Given the description of an element on the screen output the (x, y) to click on. 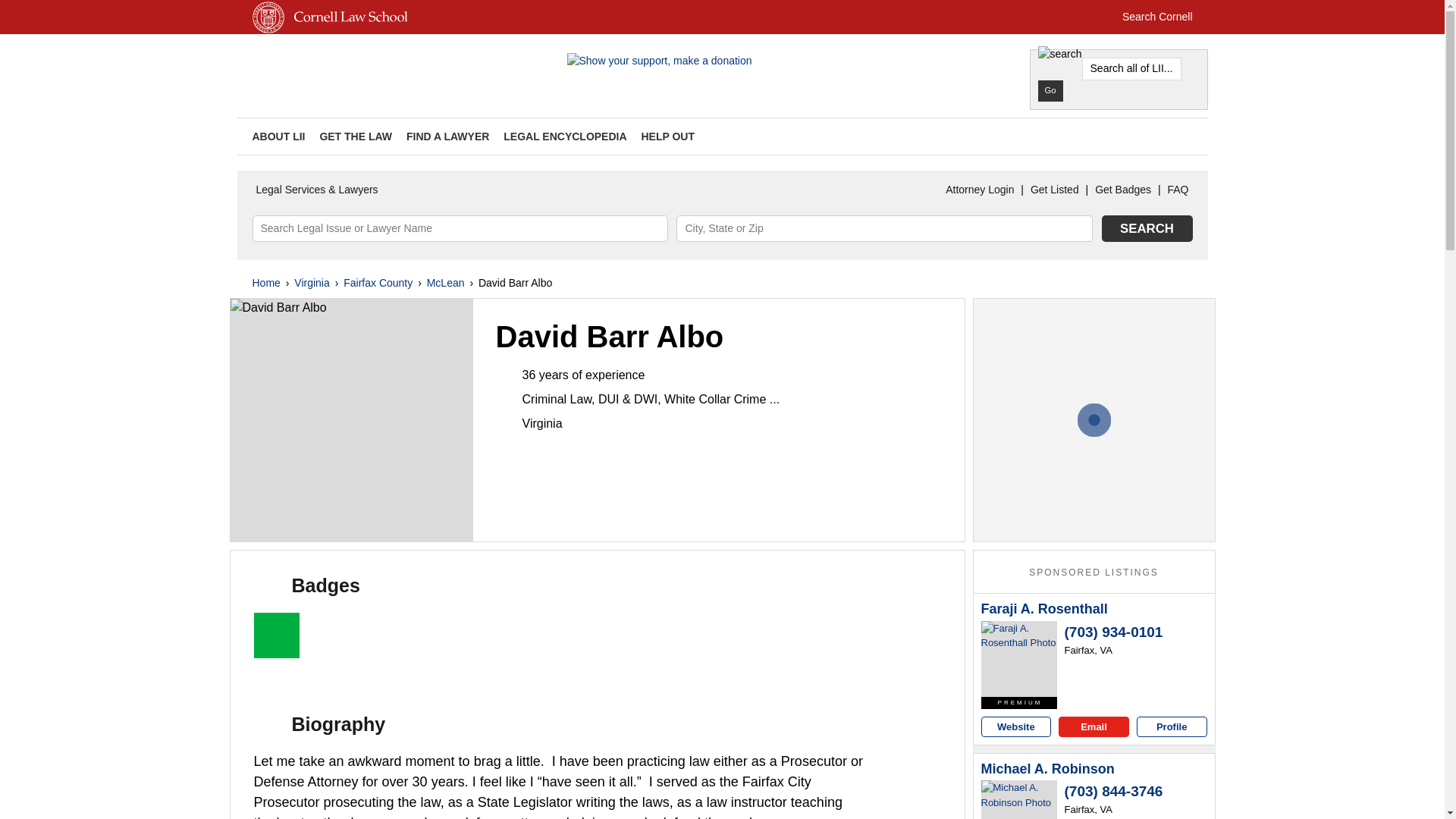
Get Badges (1122, 189)
Cornell - LII Attorney Directory (402, 67)
facebook like (1173, 136)
Virginia (311, 282)
FIND A LAWYER (447, 136)
Website (1016, 726)
ABOUT LII (277, 136)
Attorney Login (979, 189)
Michael A. Robinson (1019, 799)
Faraji A. Rosenthall (1044, 609)
